Given the description of an element on the screen output the (x, y) to click on. 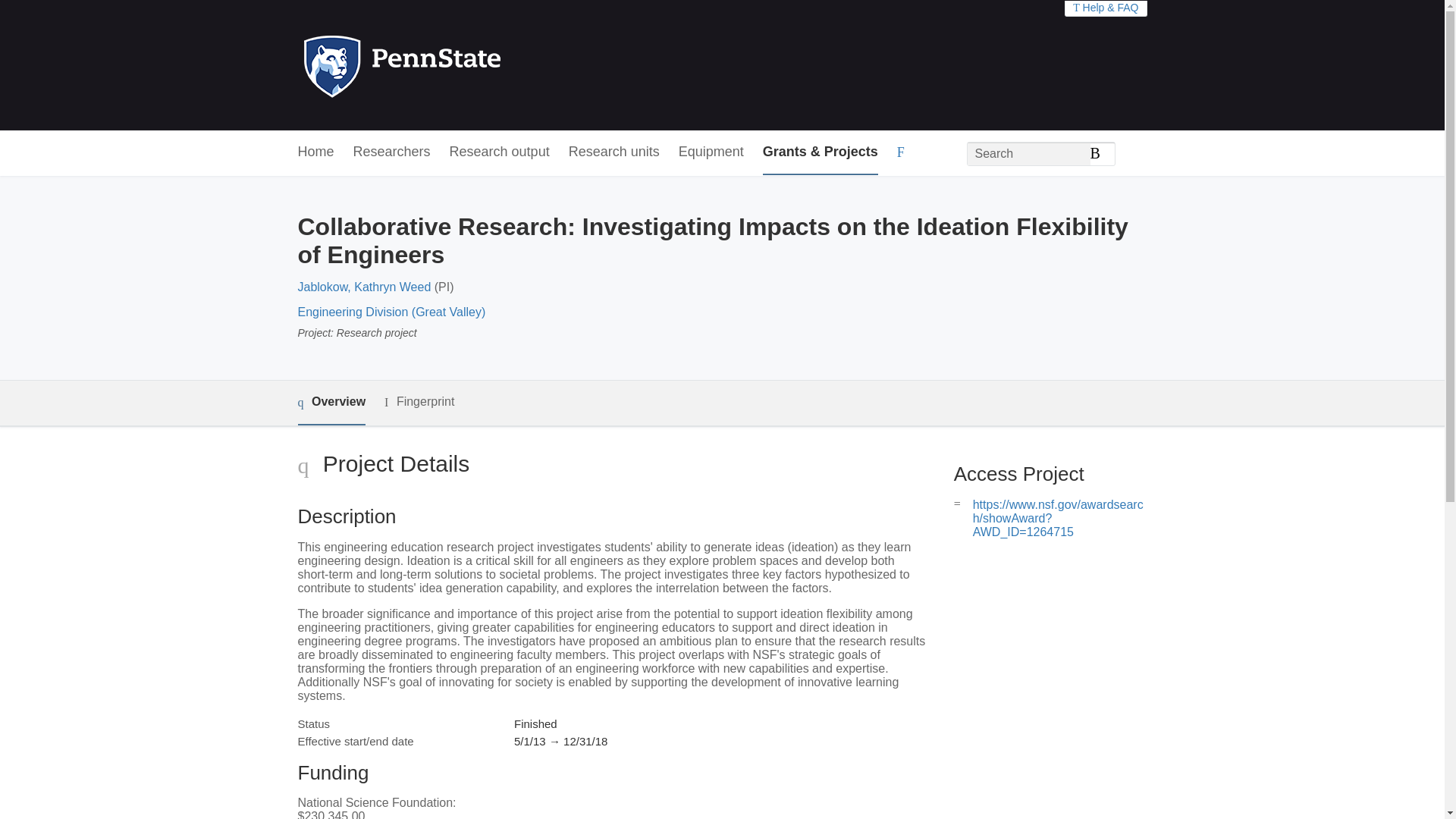
Research units (614, 152)
Fingerprint (419, 402)
Overview (331, 402)
Jablokow, Kathryn Weed (363, 286)
Researchers (391, 152)
Penn State Home (467, 65)
Research output (499, 152)
Equipment (711, 152)
